Given the description of an element on the screen output the (x, y) to click on. 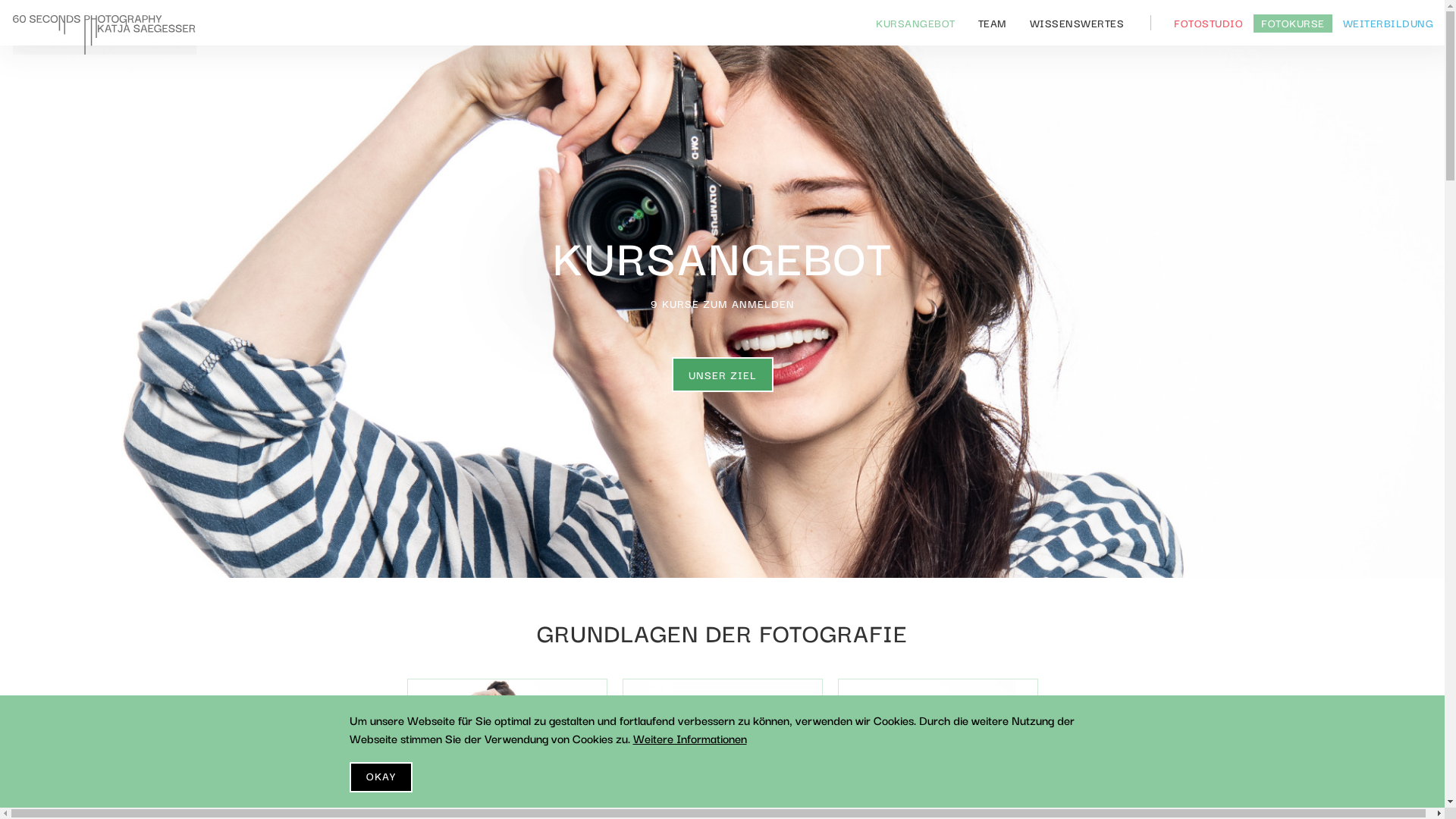
TEAM Element type: text (991, 22)
FOTOSTUDIO Element type: text (1208, 23)
FOTOKURSE Element type: text (1292, 23)
WISSENSWERTES Element type: text (1076, 22)
WEITERBILDUNG Element type: text (1387, 23)
KURSANGEBOT Element type: text (915, 22)
UNSER ZIEL Element type: text (722, 374)
OKAY Element type: text (379, 777)
Weitere Informationen Element type: text (689, 737)
